Given the description of an element on the screen output the (x, y) to click on. 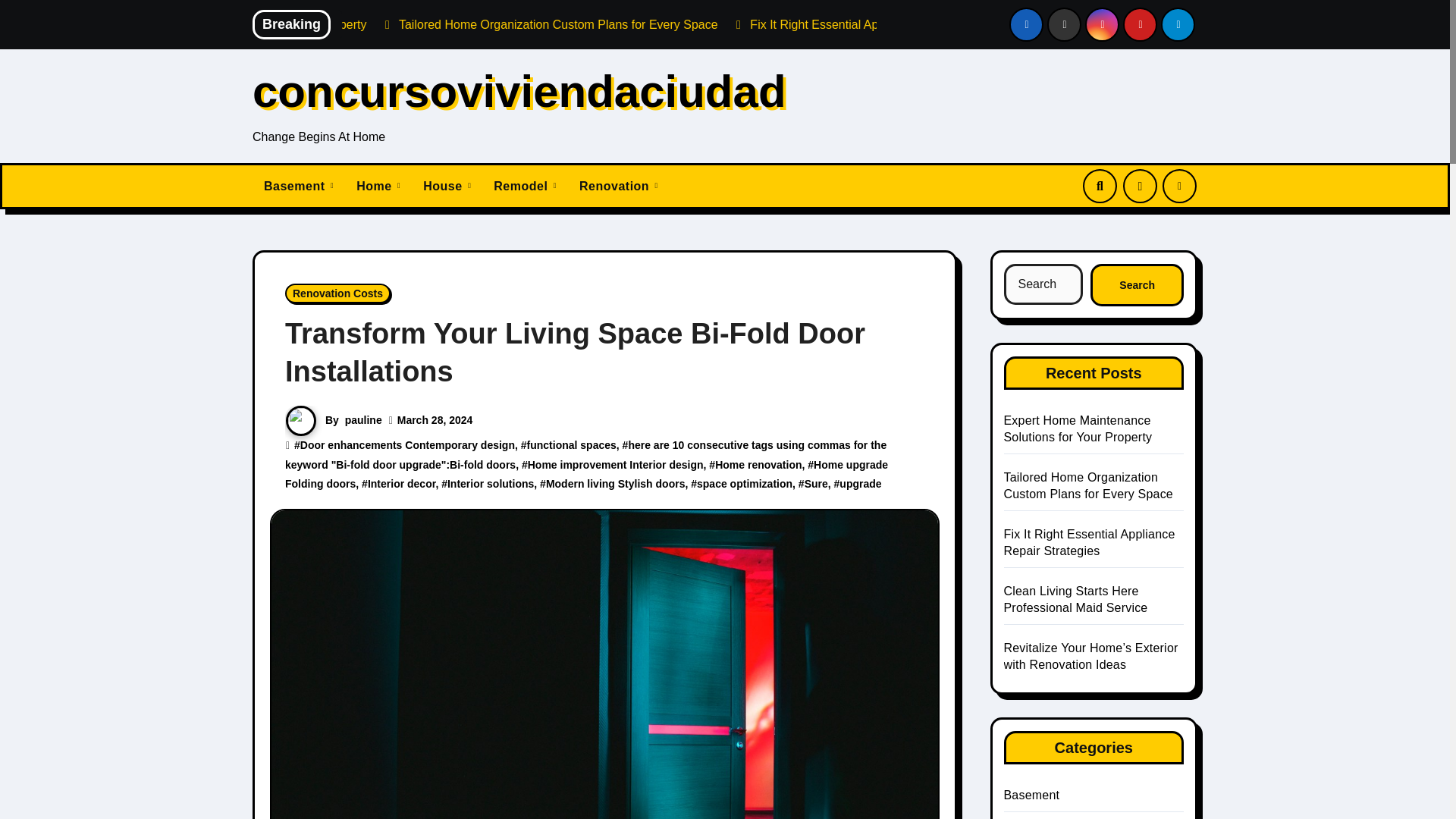
Remodel (524, 187)
House (446, 187)
Basement (298, 187)
Expert Home Maintenance Solutions for Your Property (405, 24)
concursoviviendaciudad (518, 91)
Home (378, 187)
Tailored Home Organization Custom Plans for Every Space (739, 24)
House (446, 187)
Search (1136, 284)
Search (1136, 284)
